Given the description of an element on the screen output the (x, y) to click on. 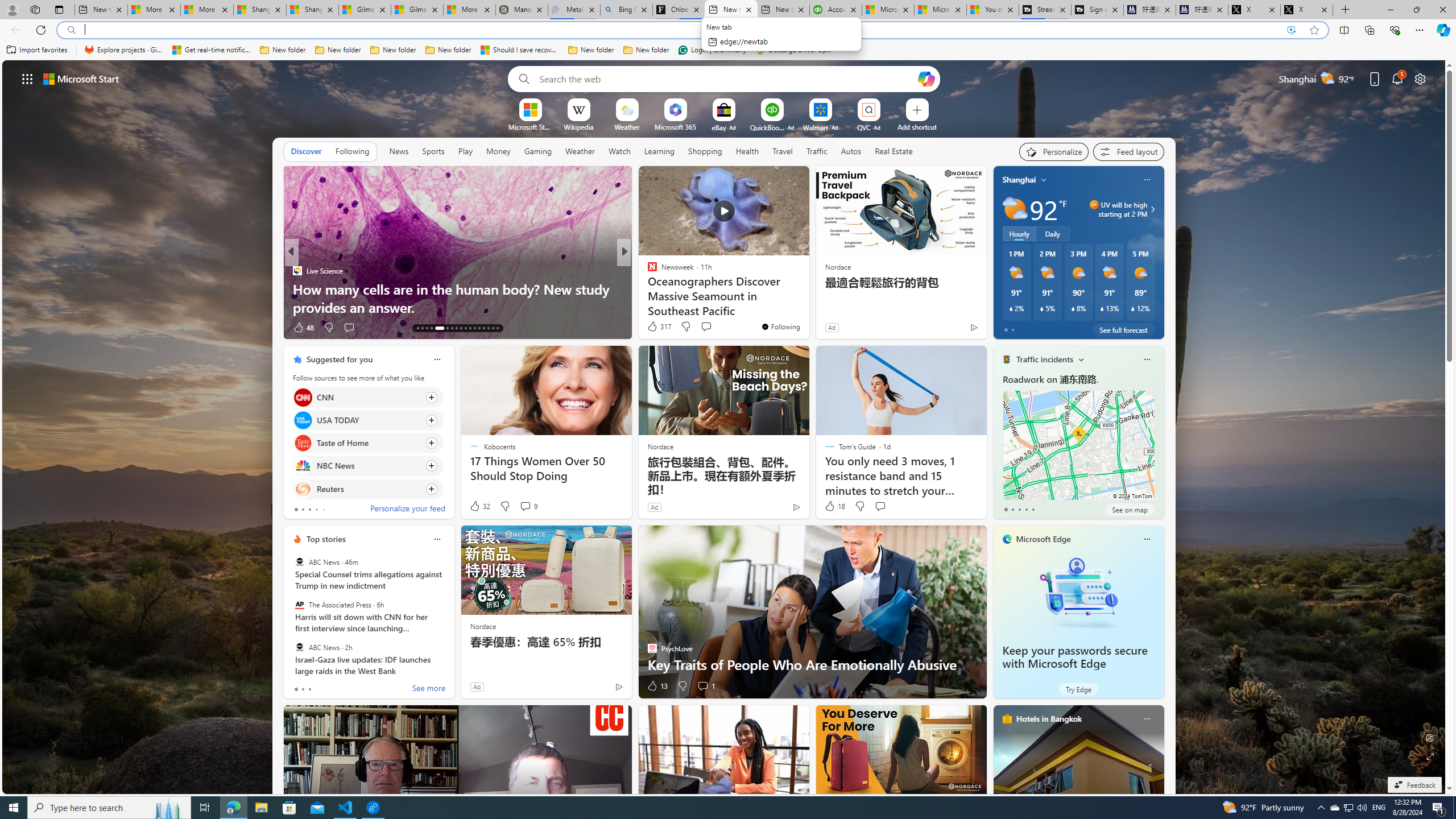
Login | Grammarly (712, 49)
Notifications (1397, 78)
View comments 1 Comment (705, 685)
Top stories (325, 538)
AutomationID: tab-15 (426, 328)
Click to follow source USA TODAY (367, 419)
Odd News (647, 270)
hotels-header-icon (1006, 718)
tab-4 (1032, 509)
View comments 5 Comment (702, 327)
Hotels in Bangkok (1048, 718)
Traffic incidents (1044, 359)
View comments 9 Comment (528, 505)
